Given the description of an element on the screen output the (x, y) to click on. 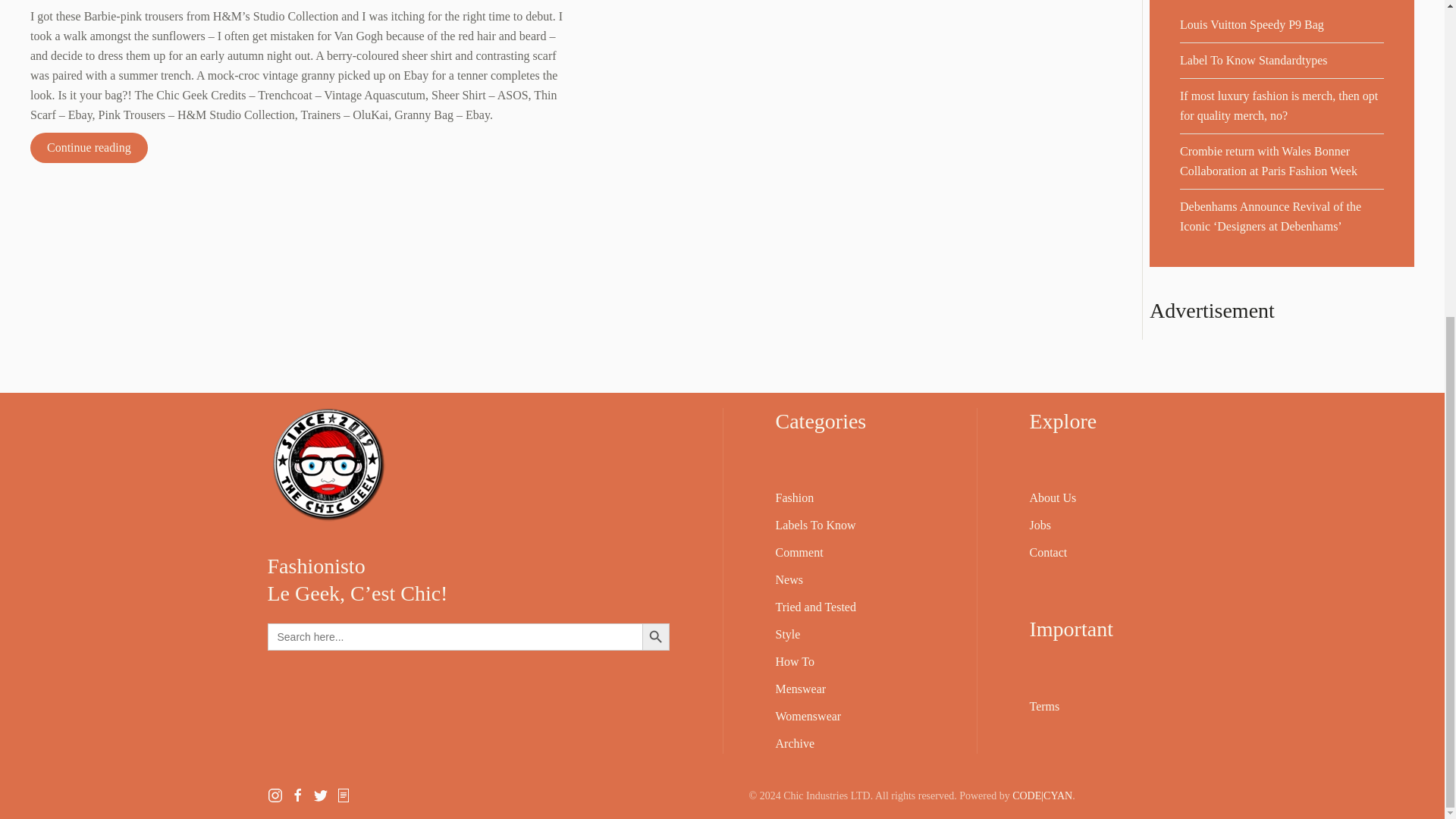
Continue reading (89, 147)
Archive (793, 743)
News (788, 579)
Fashion (793, 497)
How To (793, 661)
About Us (1053, 497)
Tried and Tested (815, 606)
Labels To Know (815, 524)
Search Button (655, 636)
Comment (798, 552)
Louis Vuitton Speedy P9 Bag (1251, 24)
Style (786, 634)
Womenswear (807, 716)
